Given the description of an element on the screen output the (x, y) to click on. 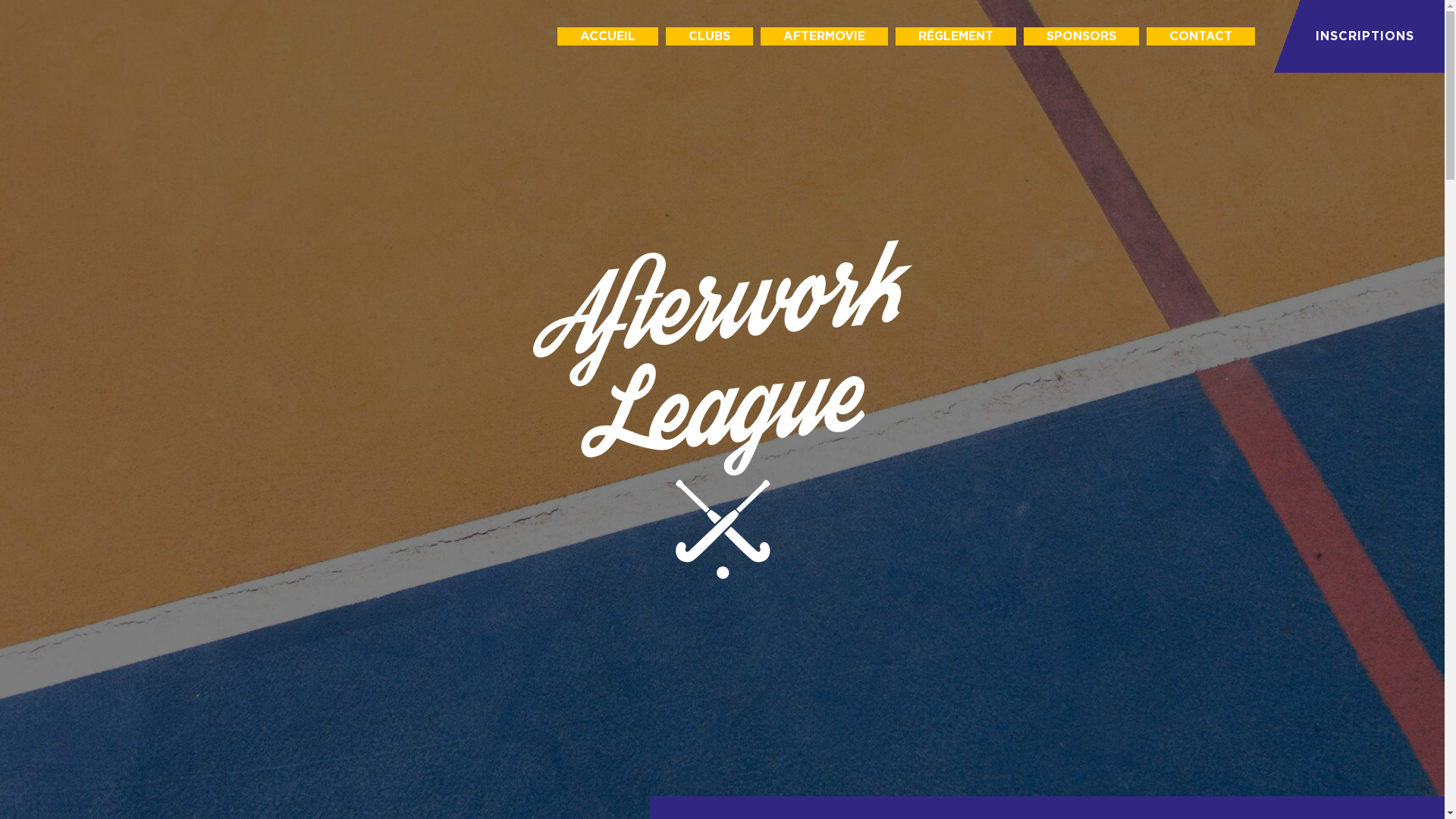
AFTERMOVIE Element type: text (824, 36)
CLUBS Element type: text (709, 36)
CONTACT Element type: text (1200, 36)
ACCUEIL Element type: text (607, 36)
SPONSORS Element type: text (1081, 36)
INSCRIPTIONS Element type: text (1357, 36)
